Given the description of an element on the screen output the (x, y) to click on. 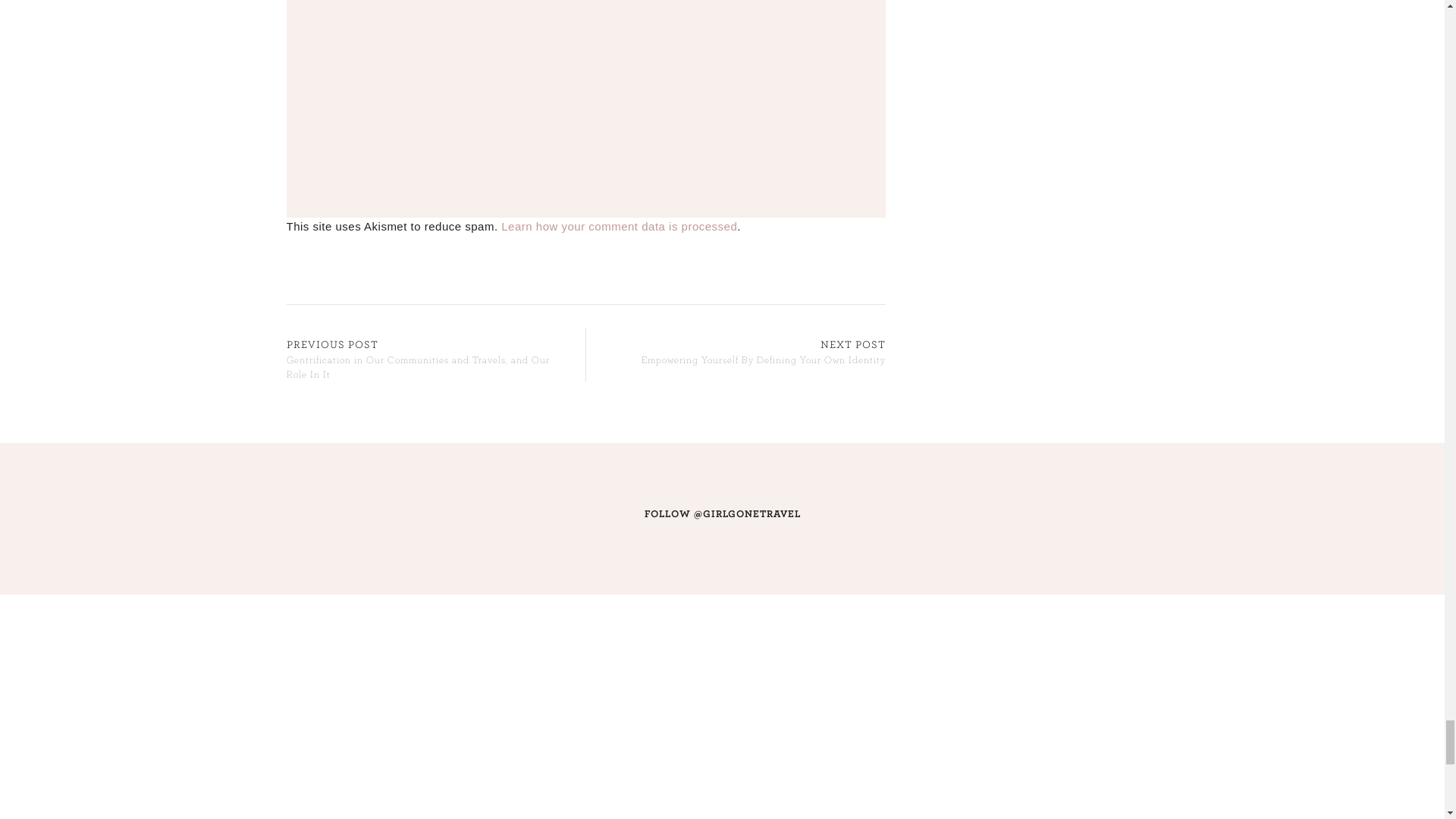
Comment Form (585, 90)
PREVIOUS POST (332, 343)
Learn how your comment data is processed (618, 226)
